Given the description of an element on the screen output the (x, y) to click on. 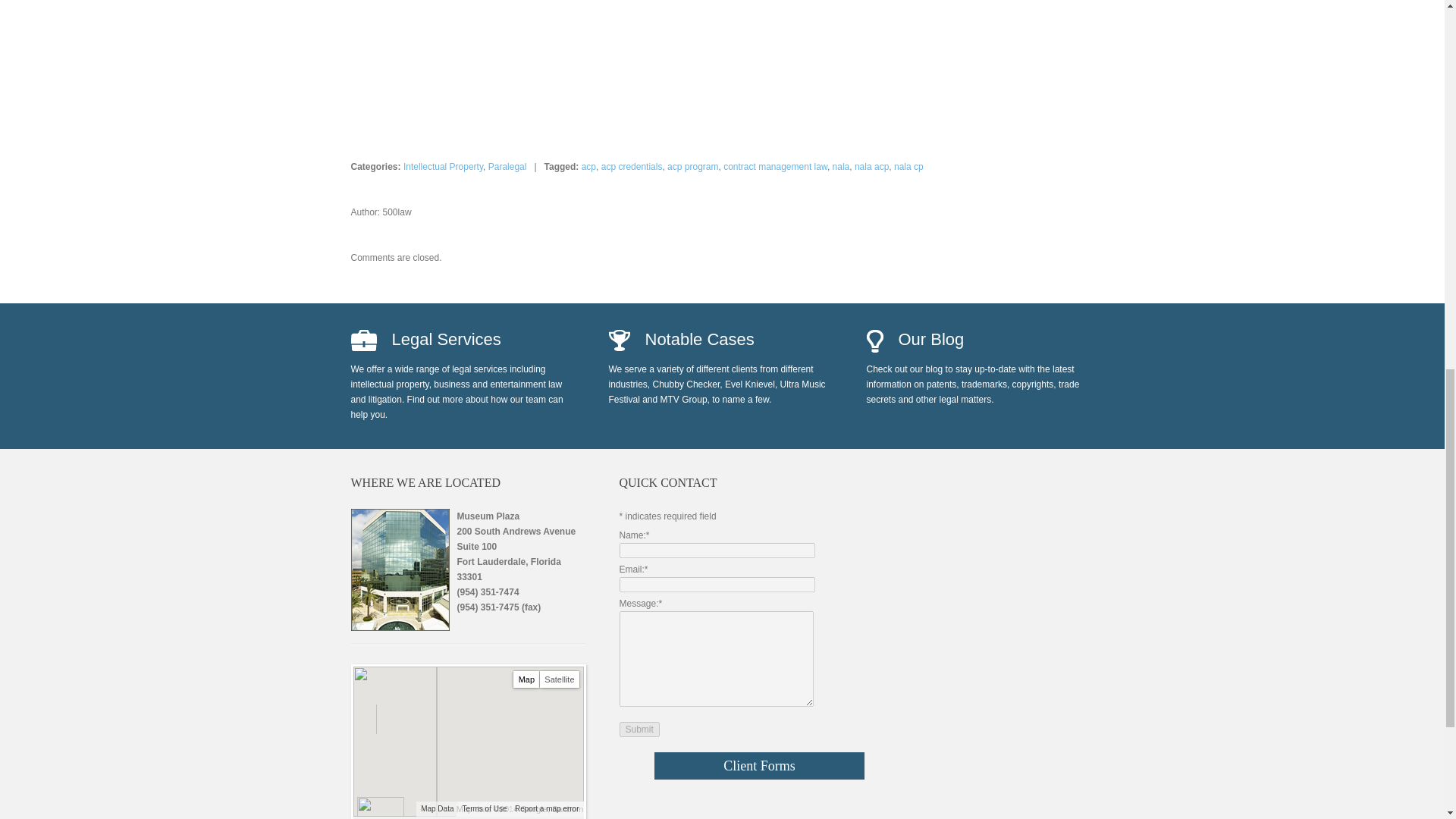
Show street map (526, 679)
Report errors in the road map or imagery to Google (546, 808)
Click to see this area on Google Maps (379, 806)
Zoom in (368, 712)
Zoom out (368, 725)
Submit (638, 729)
Show satellite imagery (559, 679)
